Given the description of an element on the screen output the (x, y) to click on. 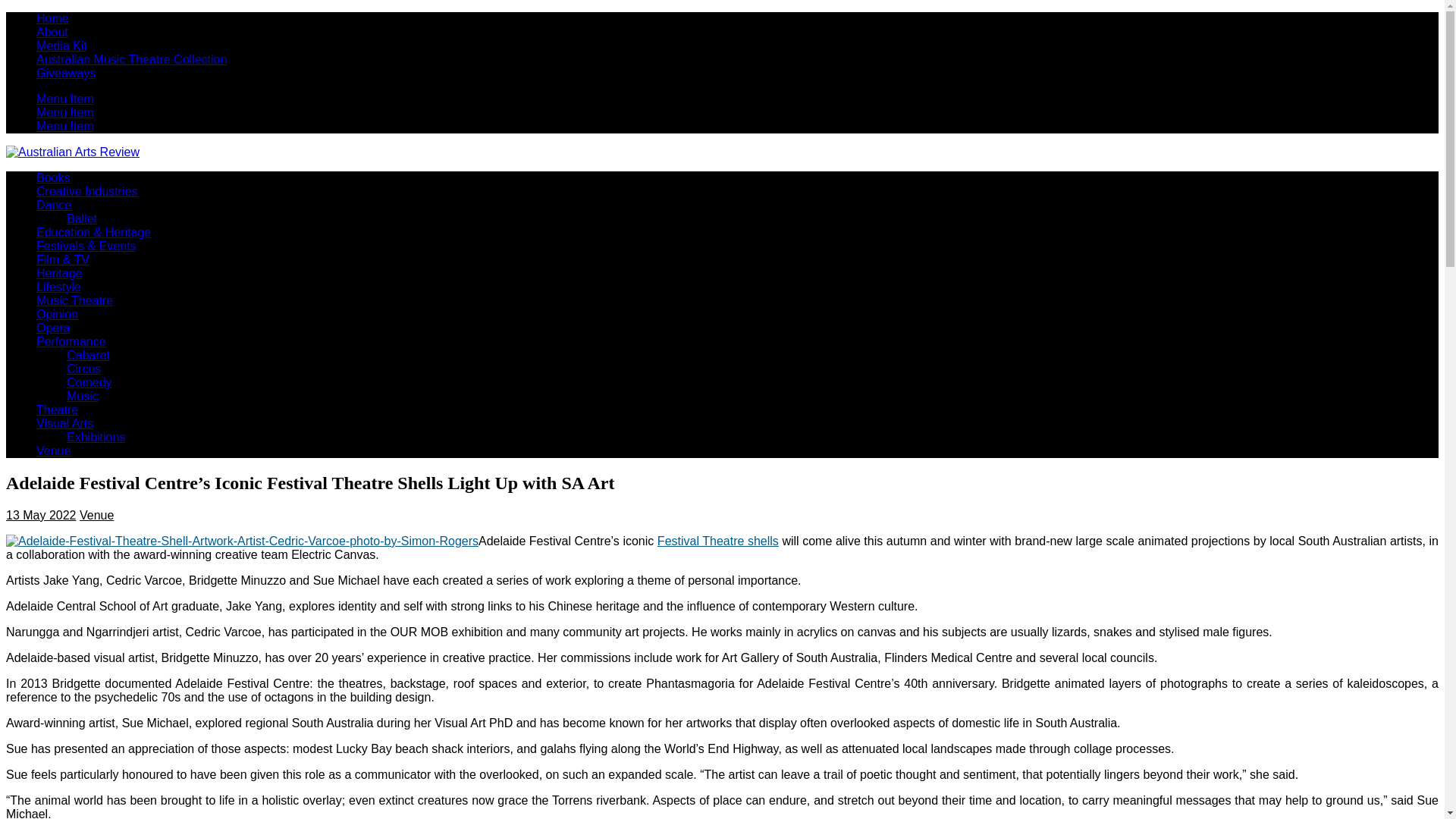
Venue (52, 450)
Opera (52, 327)
Cabaret (88, 354)
Menu Item (65, 112)
About (52, 31)
Music Theatre (74, 300)
Venue (96, 514)
Opinion (57, 314)
Ballet (81, 218)
Books (52, 177)
Visual Arts (64, 422)
Circus (83, 368)
Creative Industries (86, 191)
13 May 2022 (41, 514)
Festival Theatre shells (718, 540)
